Given the description of an element on the screen output the (x, y) to click on. 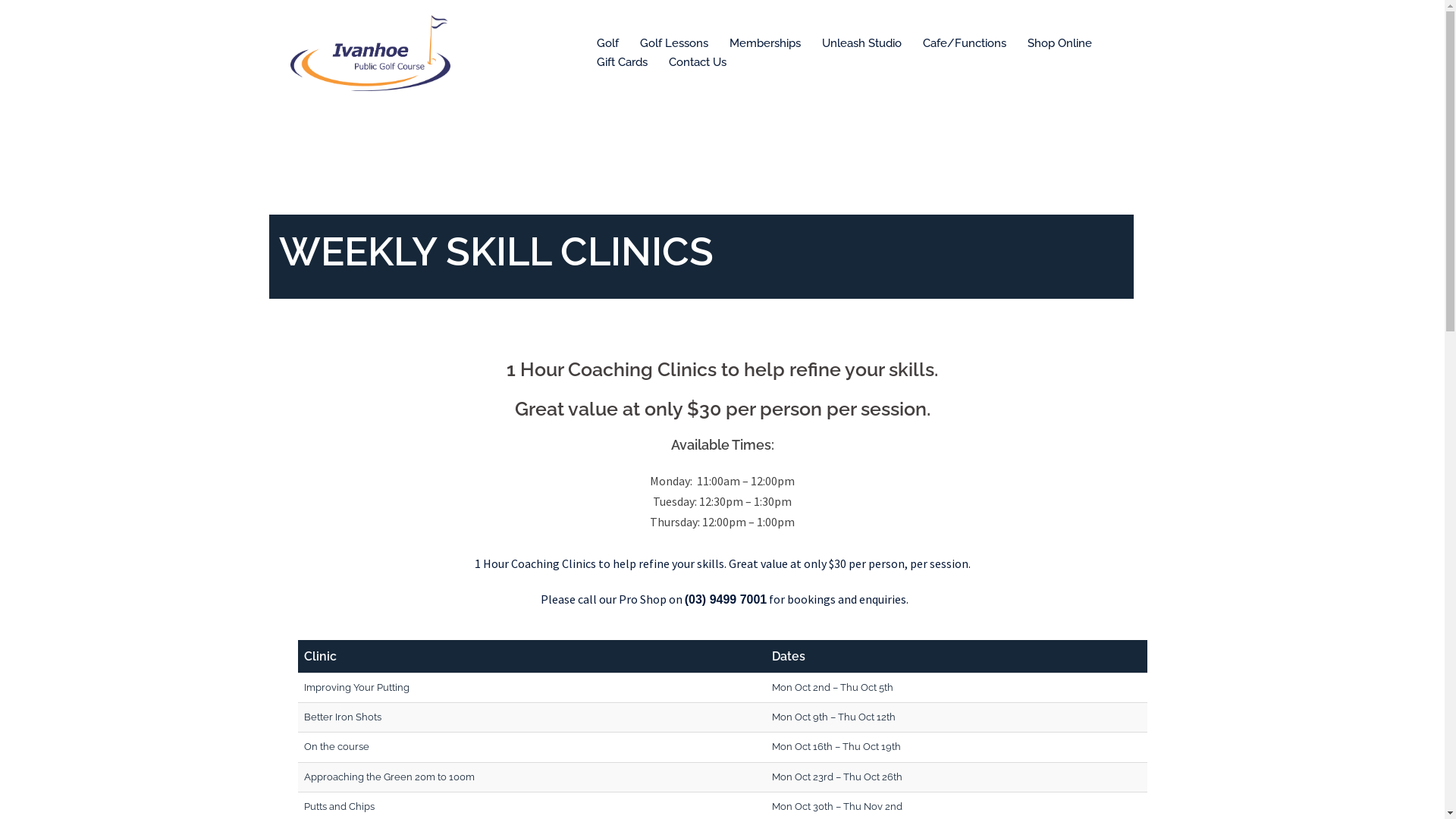
Golf Lessons Element type: text (674, 43)
Cafe/Functions Element type: text (963, 43)
Gift Cards Element type: text (621, 62)
Golf Element type: text (607, 43)
Contact Us Element type: text (697, 62)
Memberships Element type: text (764, 43)
Unleash Studio Element type: text (861, 43)
(03) 9499 7001 Element type: text (725, 599)
Shop Online Element type: text (1058, 43)
